Given the description of an element on the screen output the (x, y) to click on. 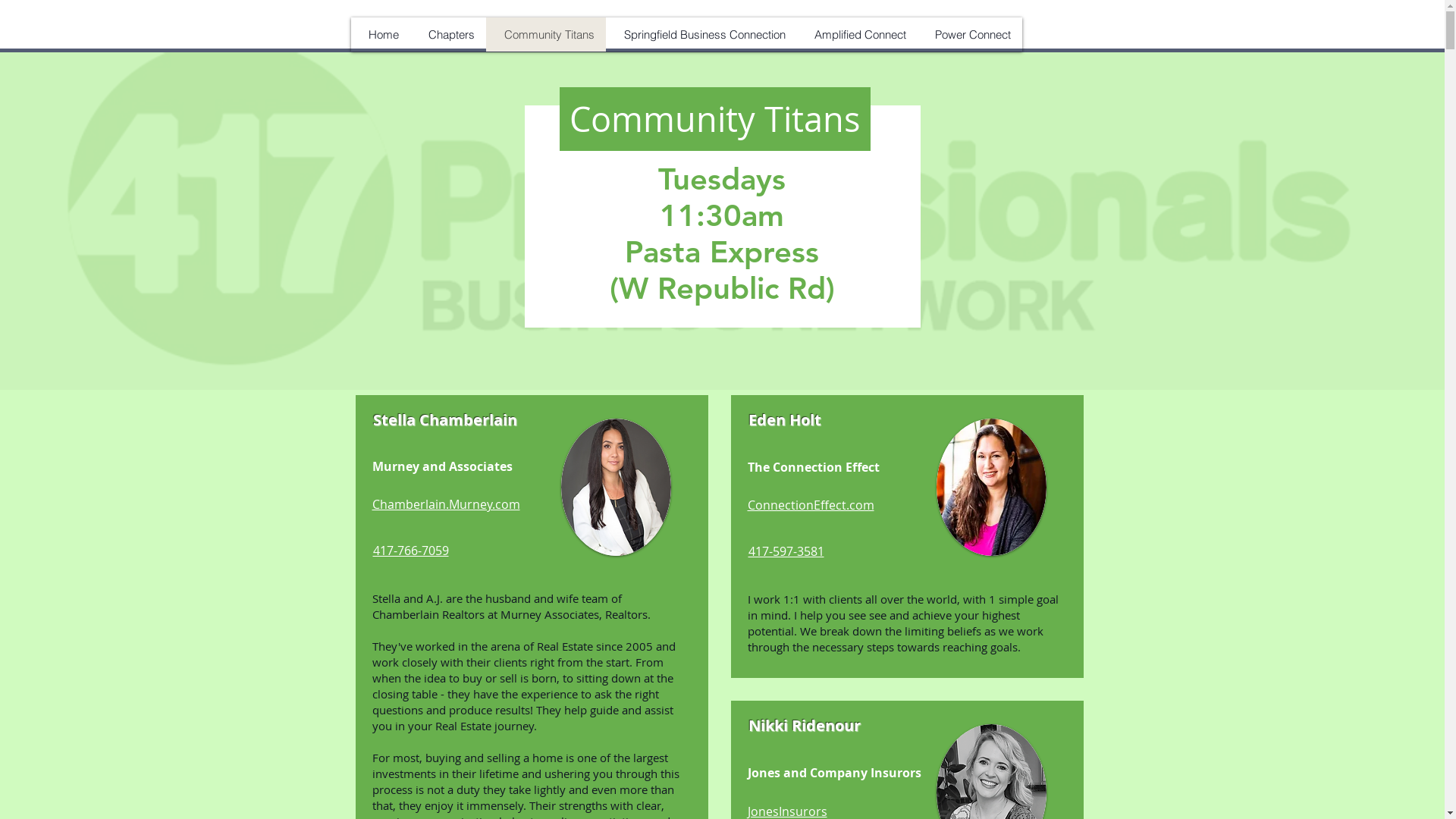
Community Titans Element type: text (545, 34)
ConnectionEffect.com Element type: text (810, 504)
Chamberlain.Murney.com Element type: text (445, 503)
417-597-3581 Element type: text (785, 550)
Net-Work Element type: text (445, 38)
Amplified Connect Element type: text (856, 34)
Power Connect Element type: text (969, 34)
Chapters Element type: text (447, 34)
Springfield Business Connection Element type: text (700, 34)
Home Element type: text (379, 34)
417-766-7059 Element type: text (410, 550)
